Given the description of an element on the screen output the (x, y) to click on. 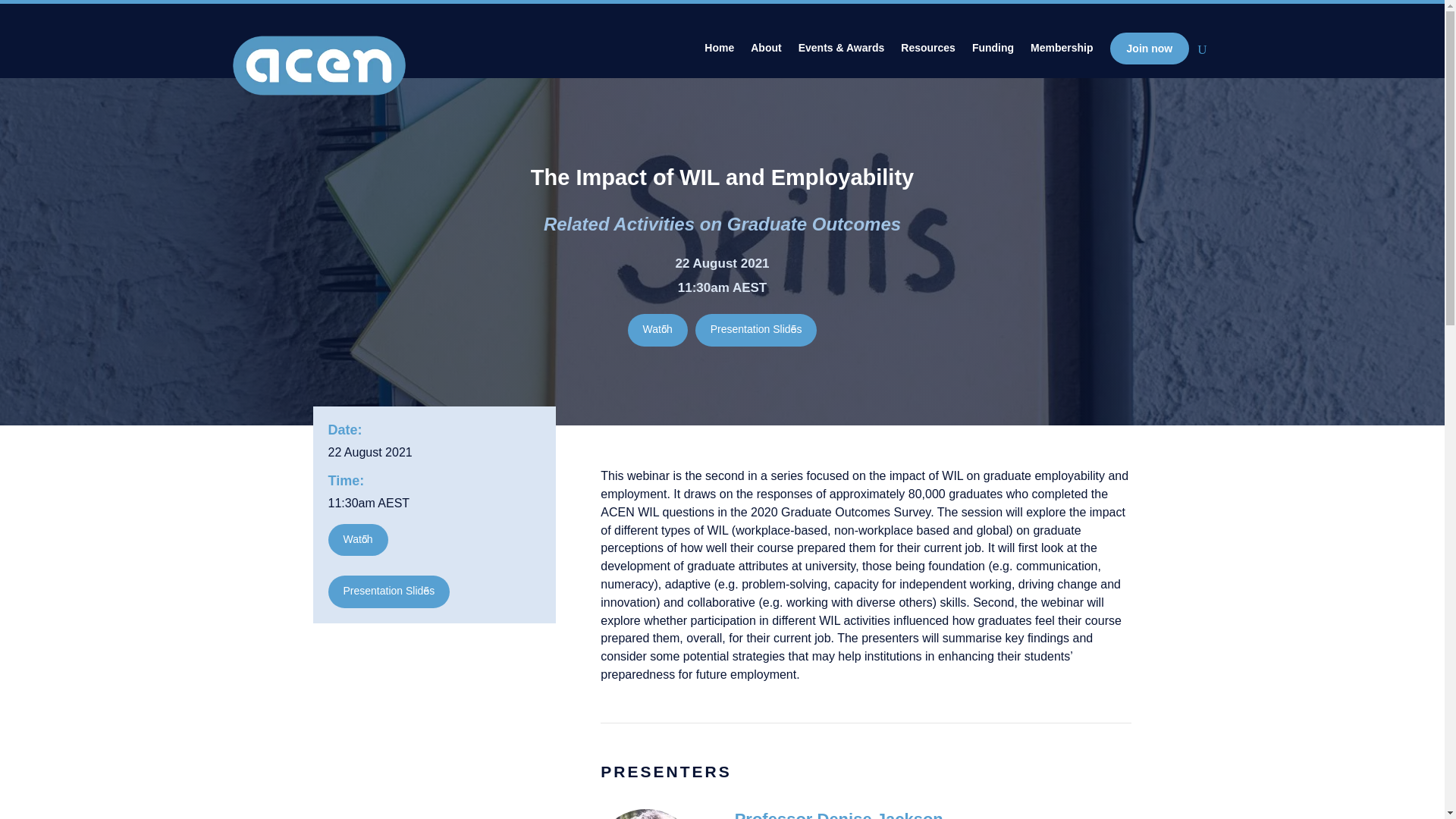
Home (718, 53)
Funding (992, 53)
Join now (1149, 48)
Membership (1061, 53)
acen-logo-primary-badge-blue-1 (318, 65)
Resources (928, 53)
About (765, 53)
